Given the description of an element on the screen output the (x, y) to click on. 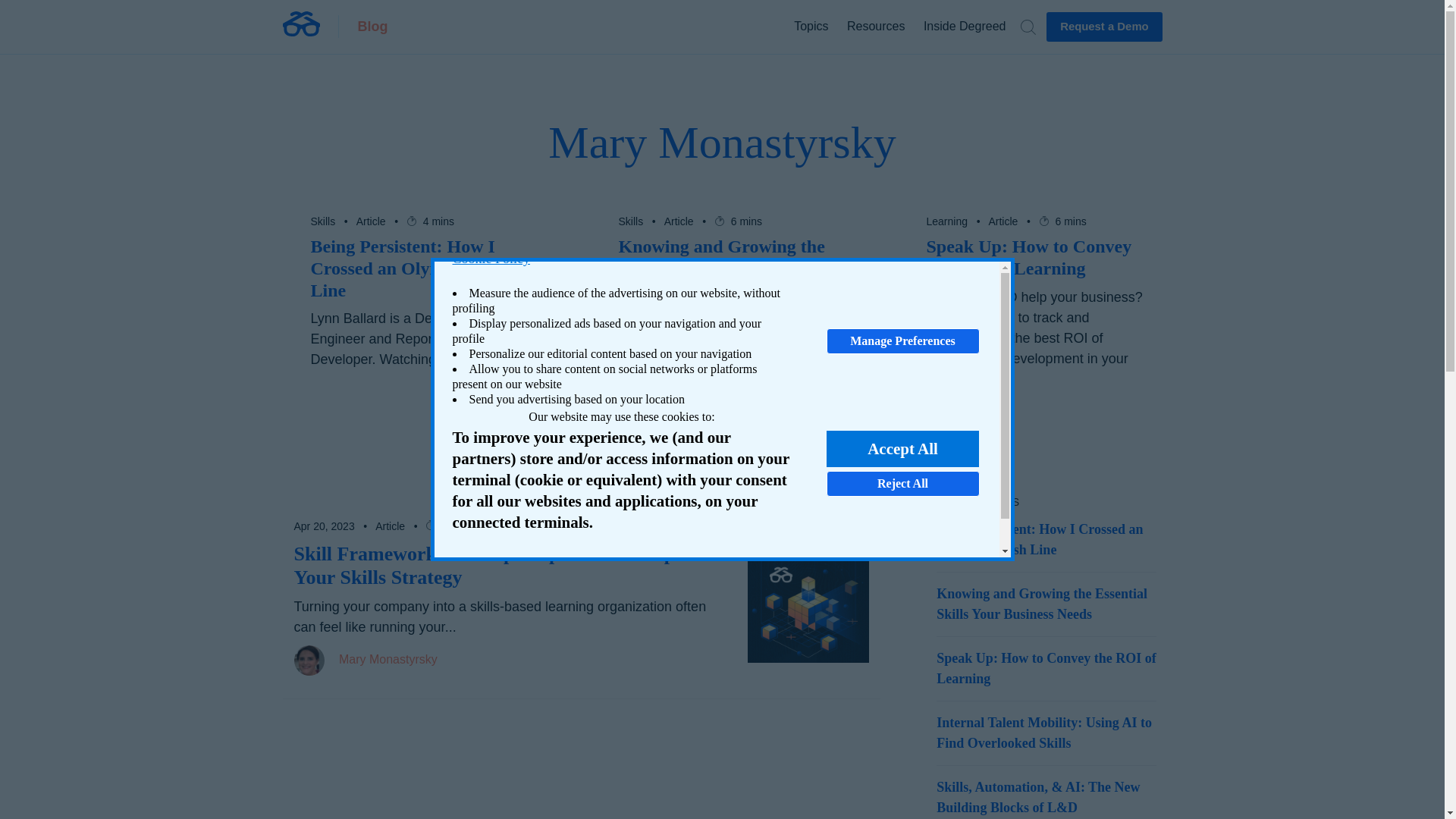
Resources (875, 26)
Reject All (903, 483)
Cookie Policy (620, 258)
Speak Up: How to Convey the ROI of Learning (1039, 257)
Knowing and Growing the Essential Skills Your Business Needs (731, 268)
Manage Preferences (903, 340)
Being Persistent: How I Crossed an Olympic Finish Line (424, 268)
Accept All (902, 448)
